Given the description of an element on the screen output the (x, y) to click on. 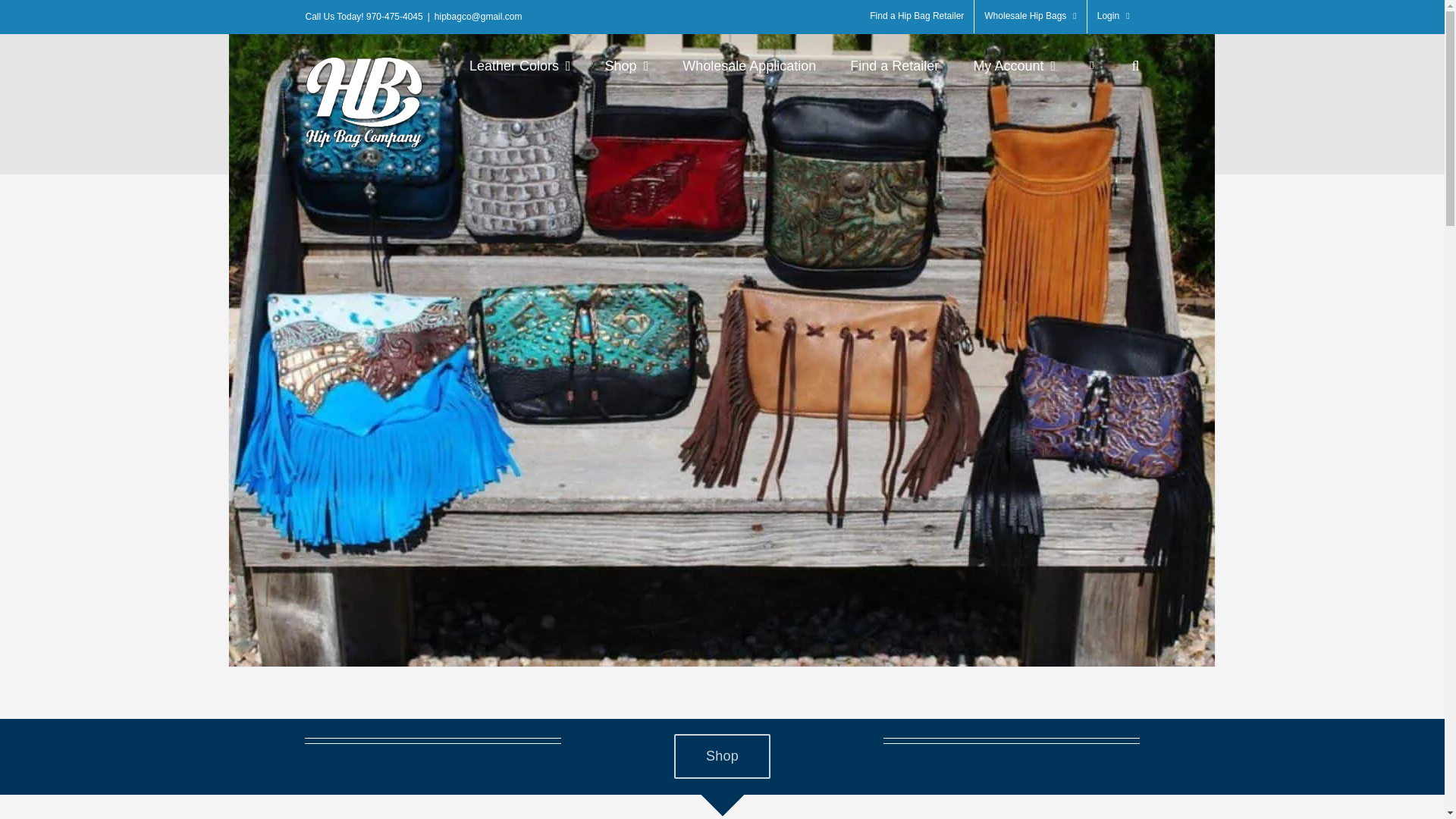
Hip Bags (838, 816)
Wholesale Hip Bags (1030, 16)
Leather Colors (519, 65)
Login (1113, 16)
Find a Hip Bag Retailer (917, 16)
